Given the description of an element on the screen output the (x, y) to click on. 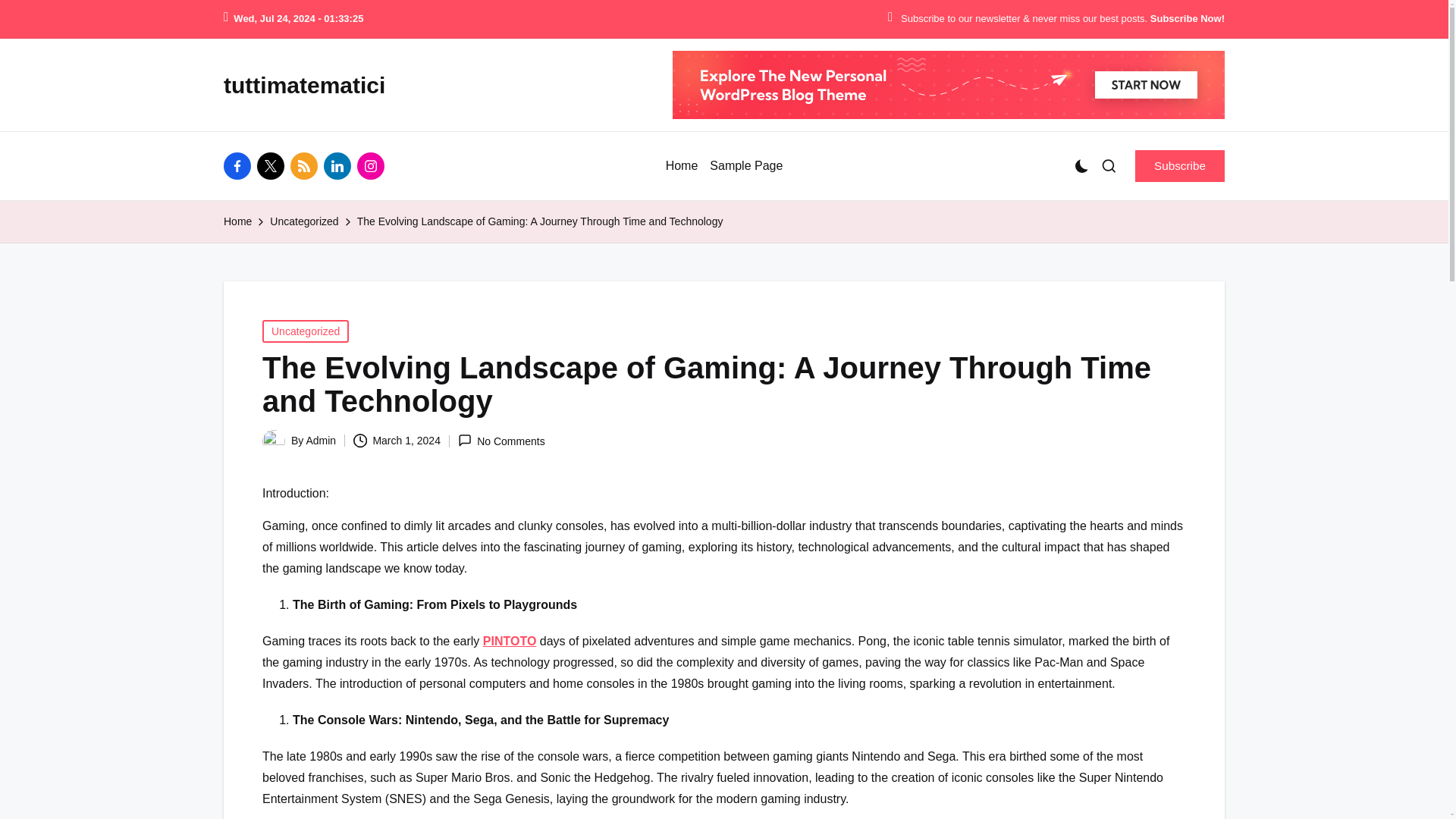
Sample Page (746, 166)
rss.com (306, 165)
Uncategorized (303, 221)
Admin (320, 440)
No Comments (501, 440)
tuttimatematici (304, 84)
twitter.com (273, 165)
instagram.com (373, 165)
PINTOTO (510, 640)
Subscribe (1179, 165)
Home (681, 166)
facebook.com (240, 165)
Uncategorized (305, 331)
Subscribe Now! (1187, 18)
Home (237, 221)
